Given the description of an element on the screen output the (x, y) to click on. 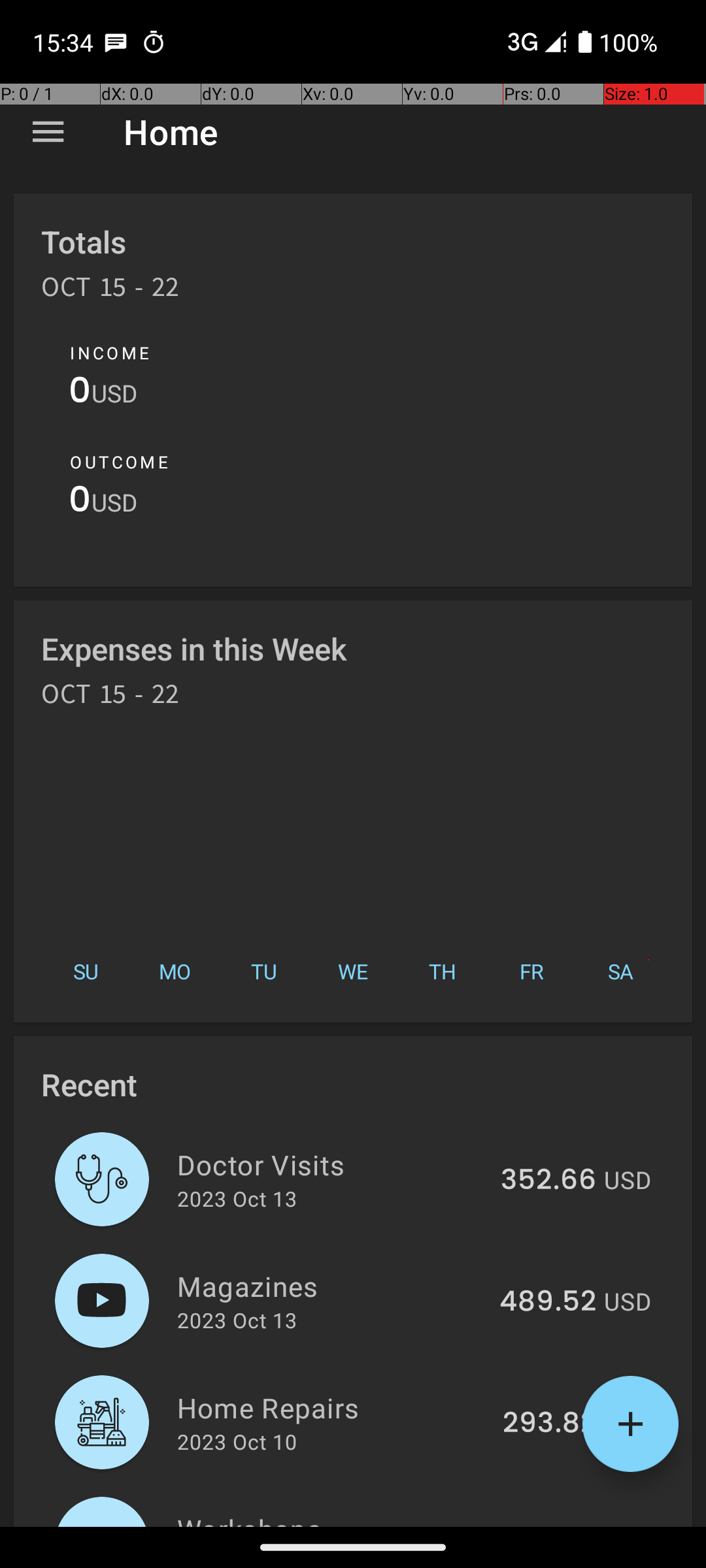
352.66 Element type: android.widget.TextView (548, 1180)
Magazines Element type: android.widget.TextView (330, 1285)
489.52 Element type: android.widget.TextView (547, 1301)
293.82 Element type: android.widget.TextView (549, 1423)
Workshops Element type: android.widget.TextView (333, 1518)
418.89 Element type: android.widget.TextView (550, 1524)
